Given the description of an element on the screen output the (x, y) to click on. 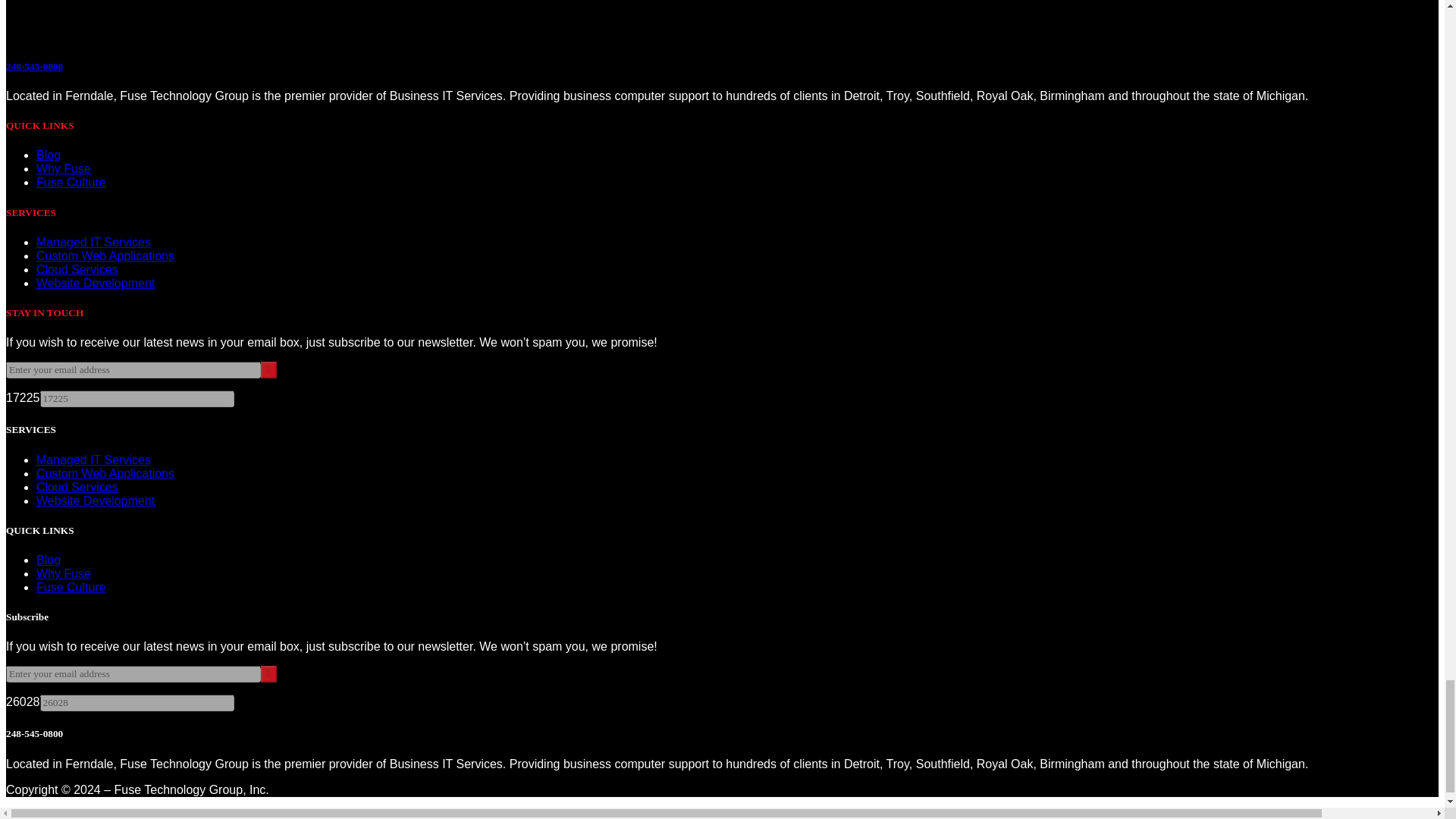
17225 (135, 398)
Enter your email address (132, 673)
248-545-0800 (33, 66)
26028 (135, 702)
Enter your email address (132, 369)
